Given the description of an element on the screen output the (x, y) to click on. 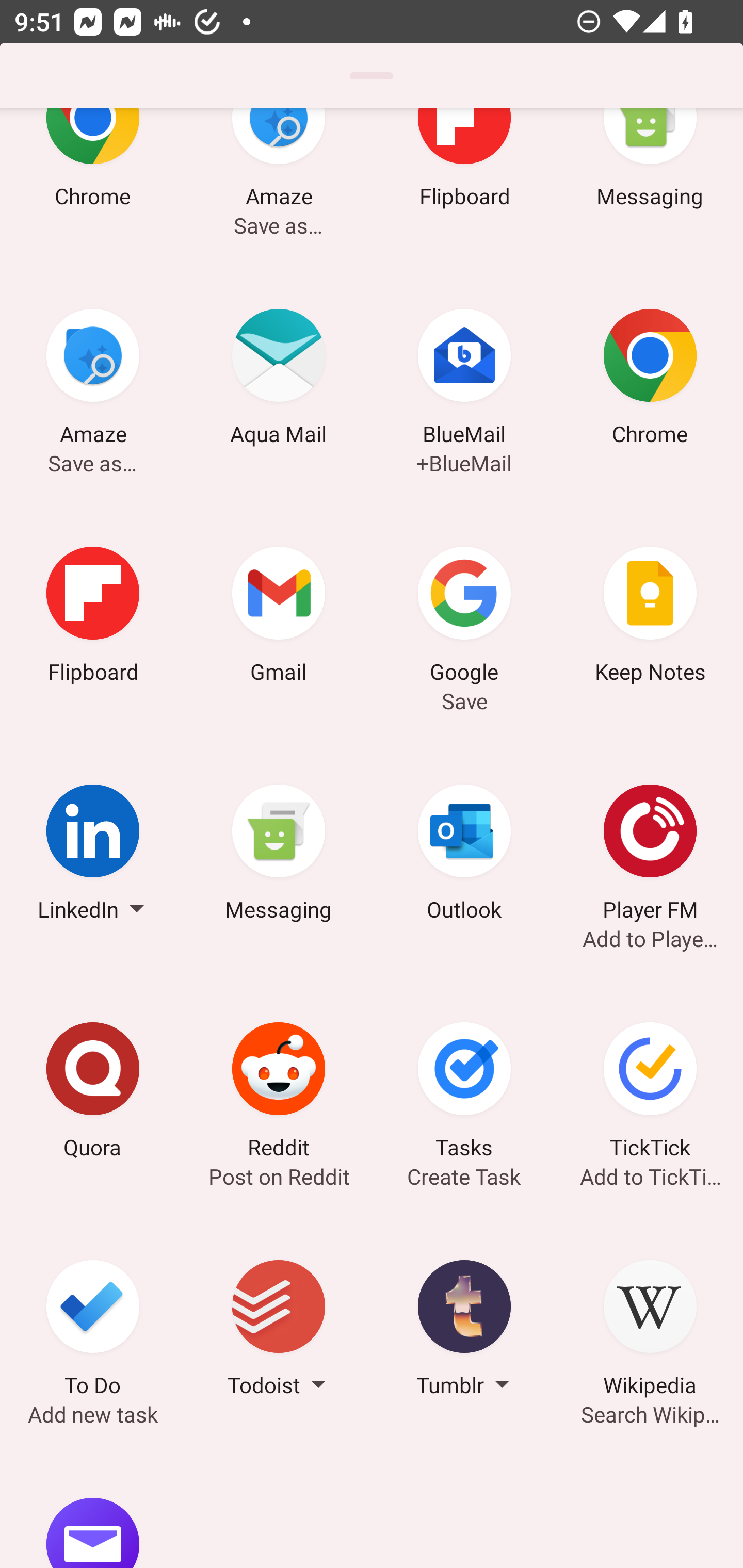
Chrome (92, 184)
Amaze Save as… (278, 184)
Flipboard (464, 184)
Messaging (650, 184)
Amaze Save as… (92, 379)
Aqua Mail (278, 379)
BlueMail +BlueMail (464, 379)
Chrome (650, 379)
Flipboard (92, 617)
Gmail (278, 617)
Google Save (464, 617)
Keep Notes (650, 617)
LinkedIn (92, 855)
Messaging (278, 855)
Outlook (464, 855)
Player FM Add to Player FM (650, 855)
Quora (92, 1093)
Reddit Post on Reddit (278, 1093)
Tasks Create Task (464, 1093)
TickTick Add to TickTick (650, 1093)
To Do Add new task (92, 1331)
Todoist (278, 1331)
Tumblr (464, 1331)
Wikipedia Search Wikipedia (650, 1331)
